Given the description of an element on the screen output the (x, y) to click on. 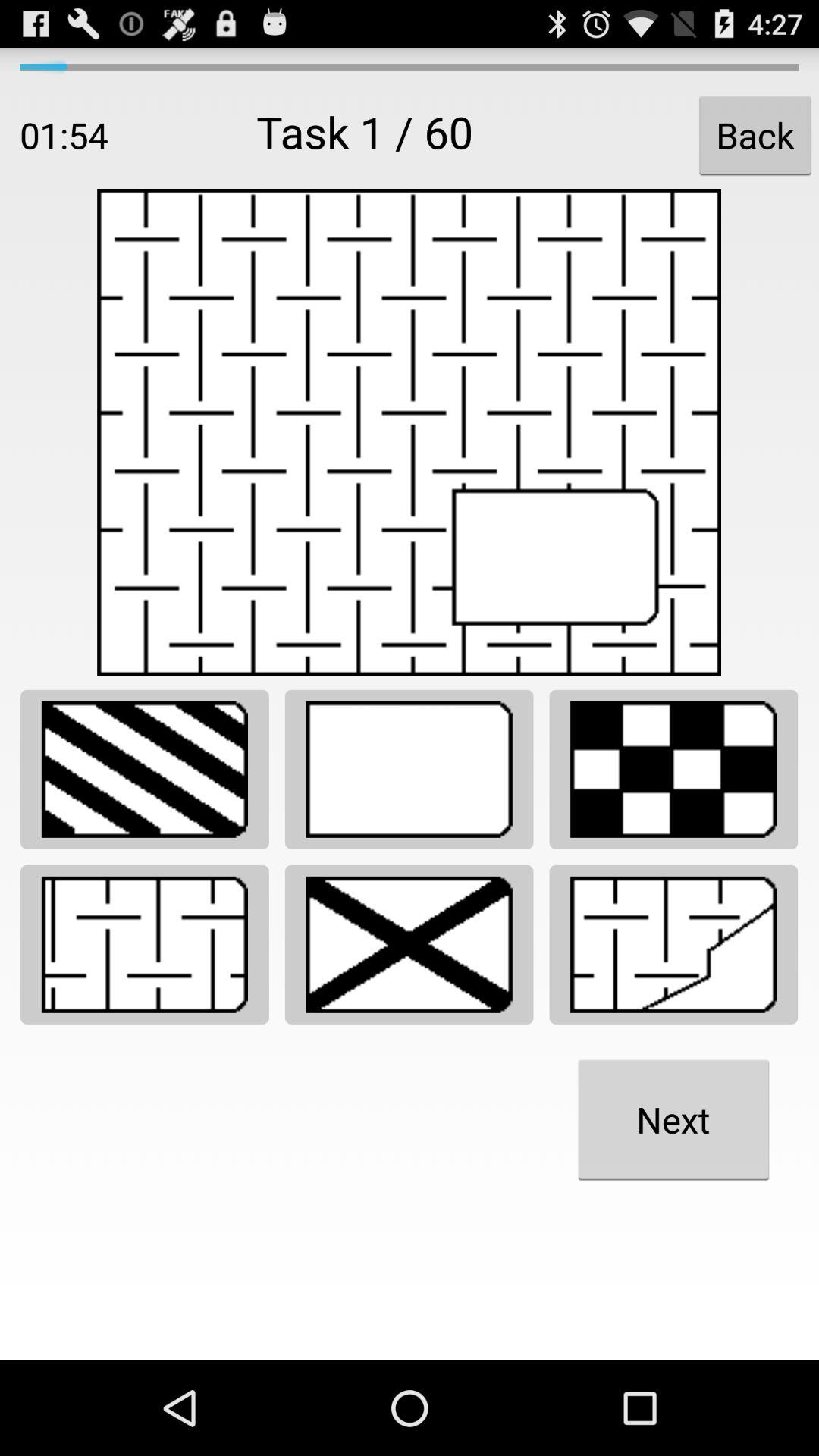
select the icon to the right of task 1 / 60 app (755, 135)
